Given the description of an element on the screen output the (x, y) to click on. 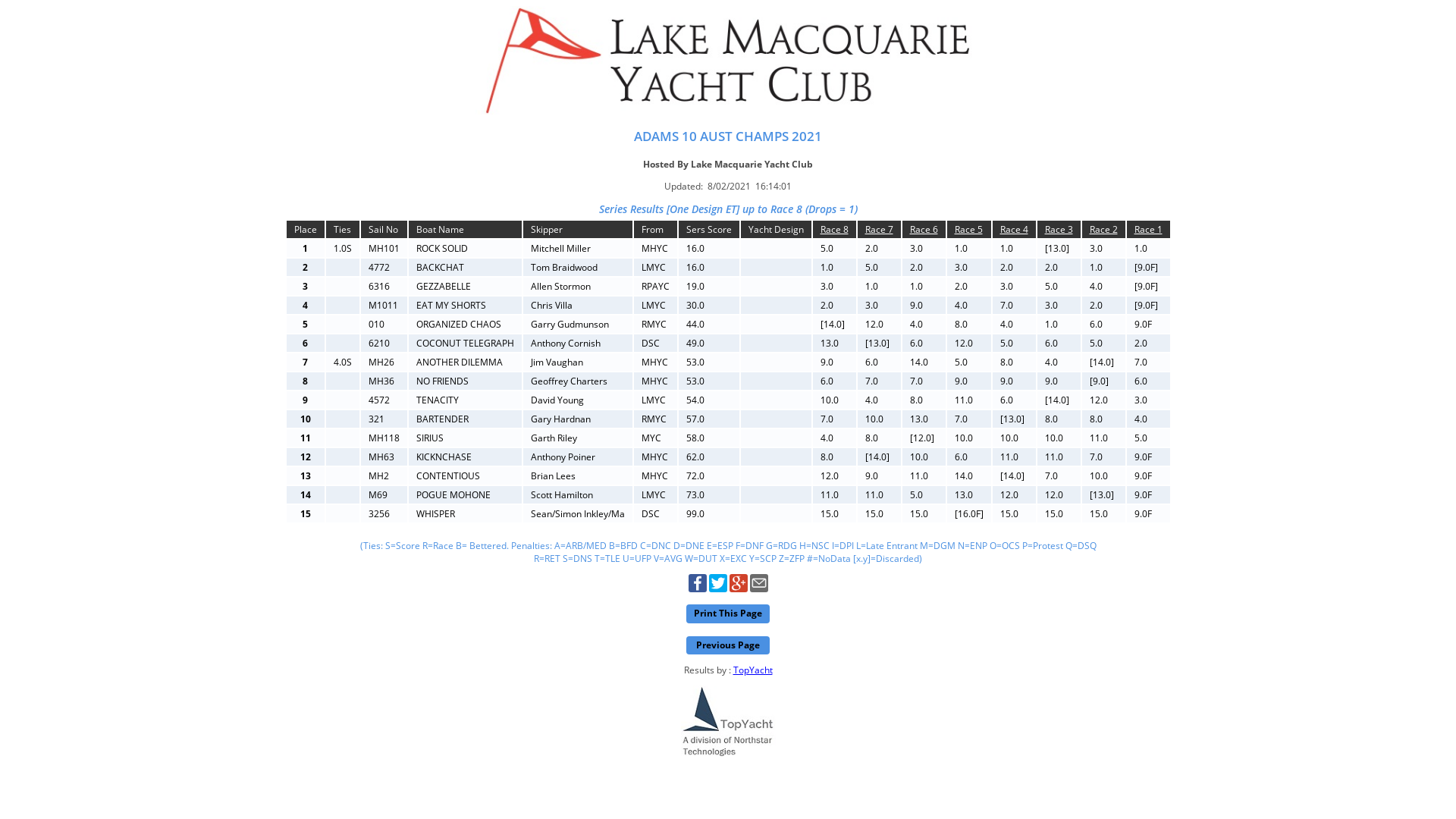
Share on Facebook Element type: hover (697, 588)
 Previous Page  Element type: text (727, 645)
Race 8 Element type: text (834, 228)
Print This Page Element type: text (727, 613)
Race 2 Element type: text (1102, 228)
Tweet Element type: hover (717, 588)
Race 5 Element type: text (967, 228)
Race 4 Element type: text (1013, 228)
Race 3 Element type: text (1058, 228)
Race 6 Element type: text (924, 228)
Send email Element type: hover (758, 588)
TopYacht Element type: text (751, 669)
Race 1 Element type: text (1148, 228)
Share on Google+ Element type: hover (738, 588)
Race 7 Element type: text (878, 228)
